Given the description of an element on the screen output the (x, y) to click on. 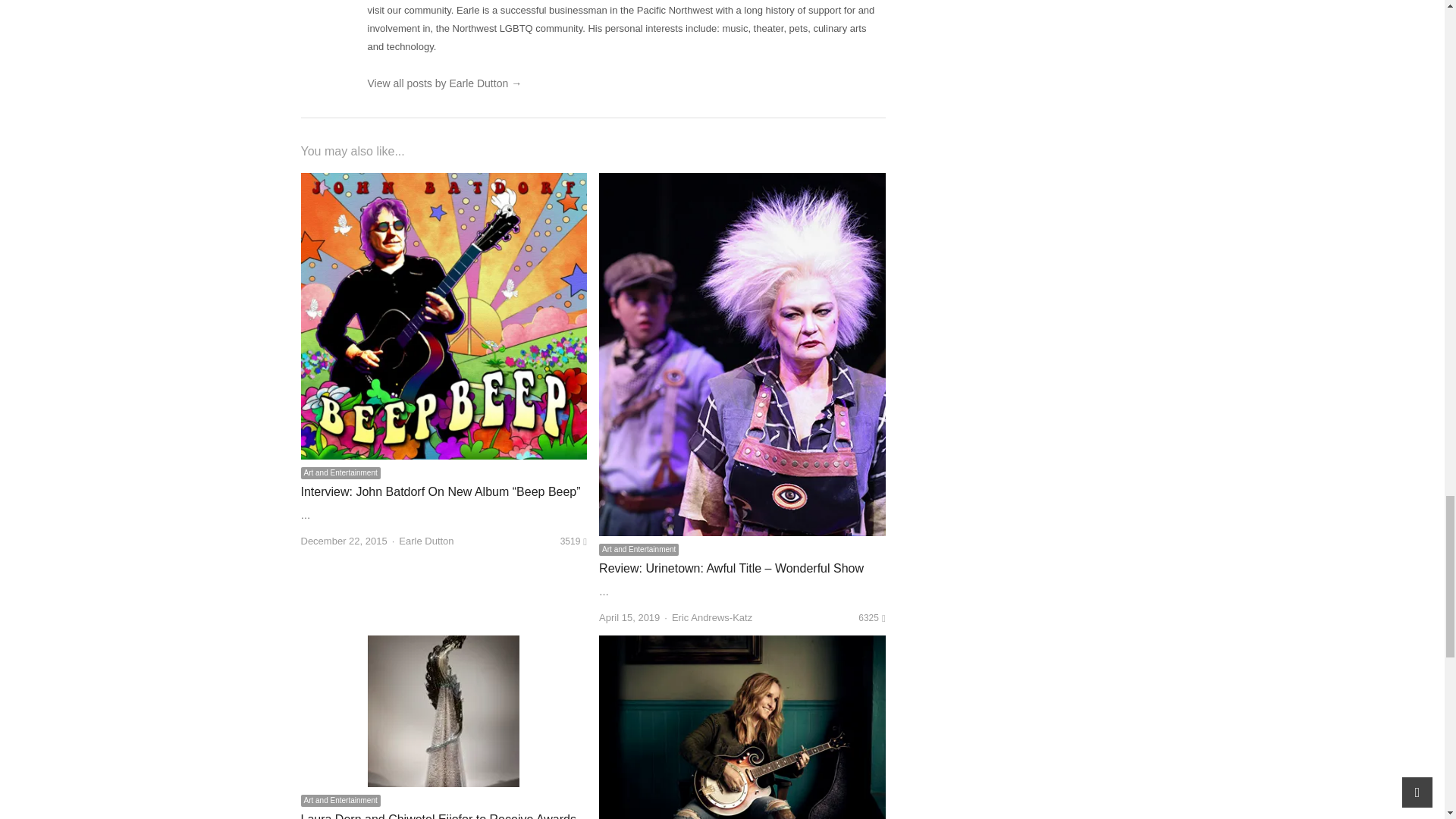
Interview: Melissa Etheridge Coming To Tulalip (741, 644)
Earle Dutton (425, 541)
Eric Andrews-Katz (711, 617)
Laura Dern and Chiwetel Ejiofor to Receive Awards at SIFF (443, 644)
Art and Entertainment (339, 472)
Laura Dern and Chiwetel Ejiofor to Receive Awards at SIFF (437, 816)
Art and Entertainment (638, 549)
